Given the description of an element on the screen output the (x, y) to click on. 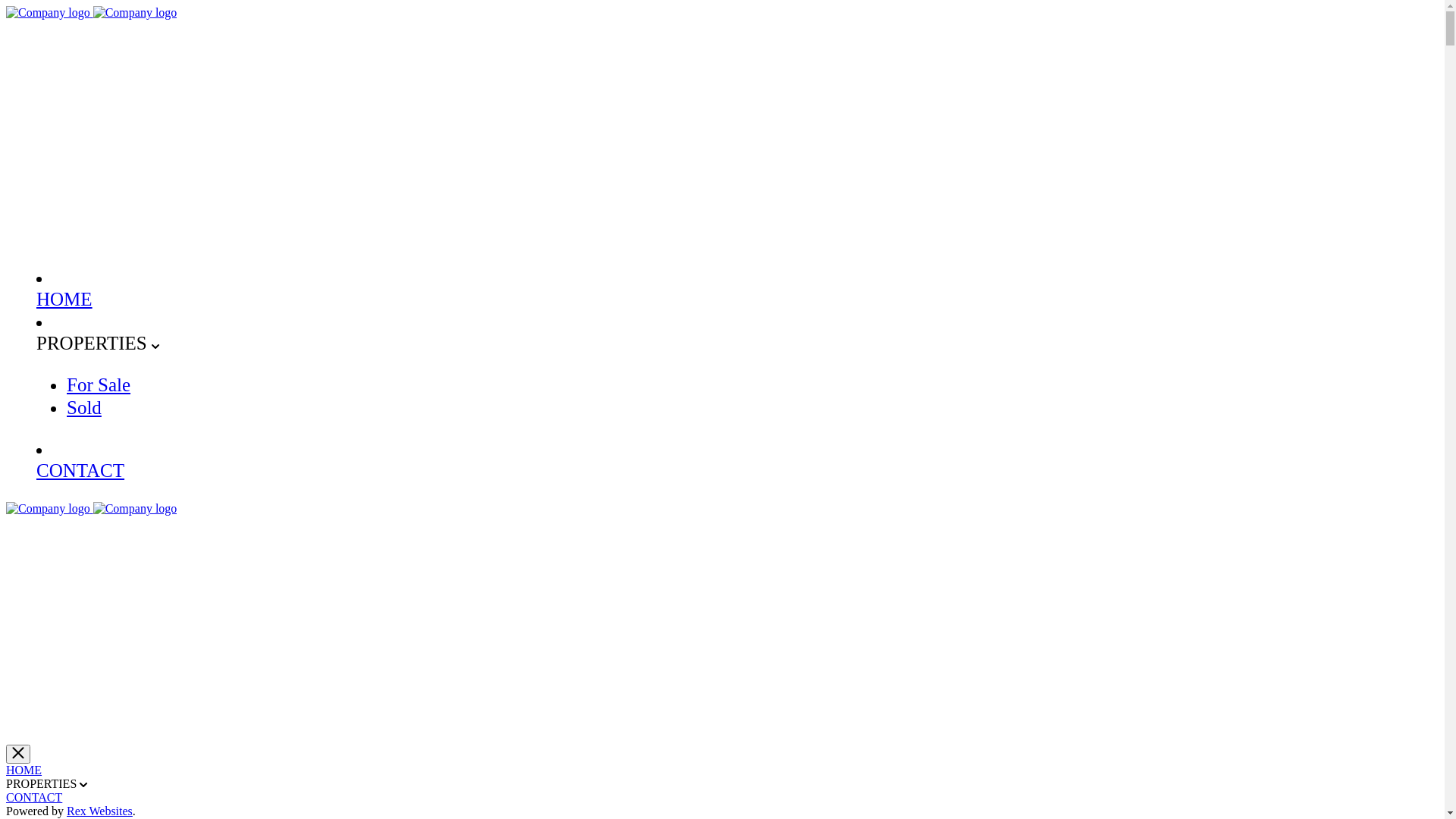
HOME Element type: text (64, 298)
CONTACT Element type: text (80, 470)
For Sale Element type: text (98, 384)
CONTACT Element type: text (34, 796)
Rex Websites Element type: text (99, 810)
HOME Element type: text (23, 769)
Sold Element type: text (83, 407)
PROPERTIES Element type: text (42, 783)
PROPERTIES Element type: text (93, 342)
